Given the description of an element on the screen output the (x, y) to click on. 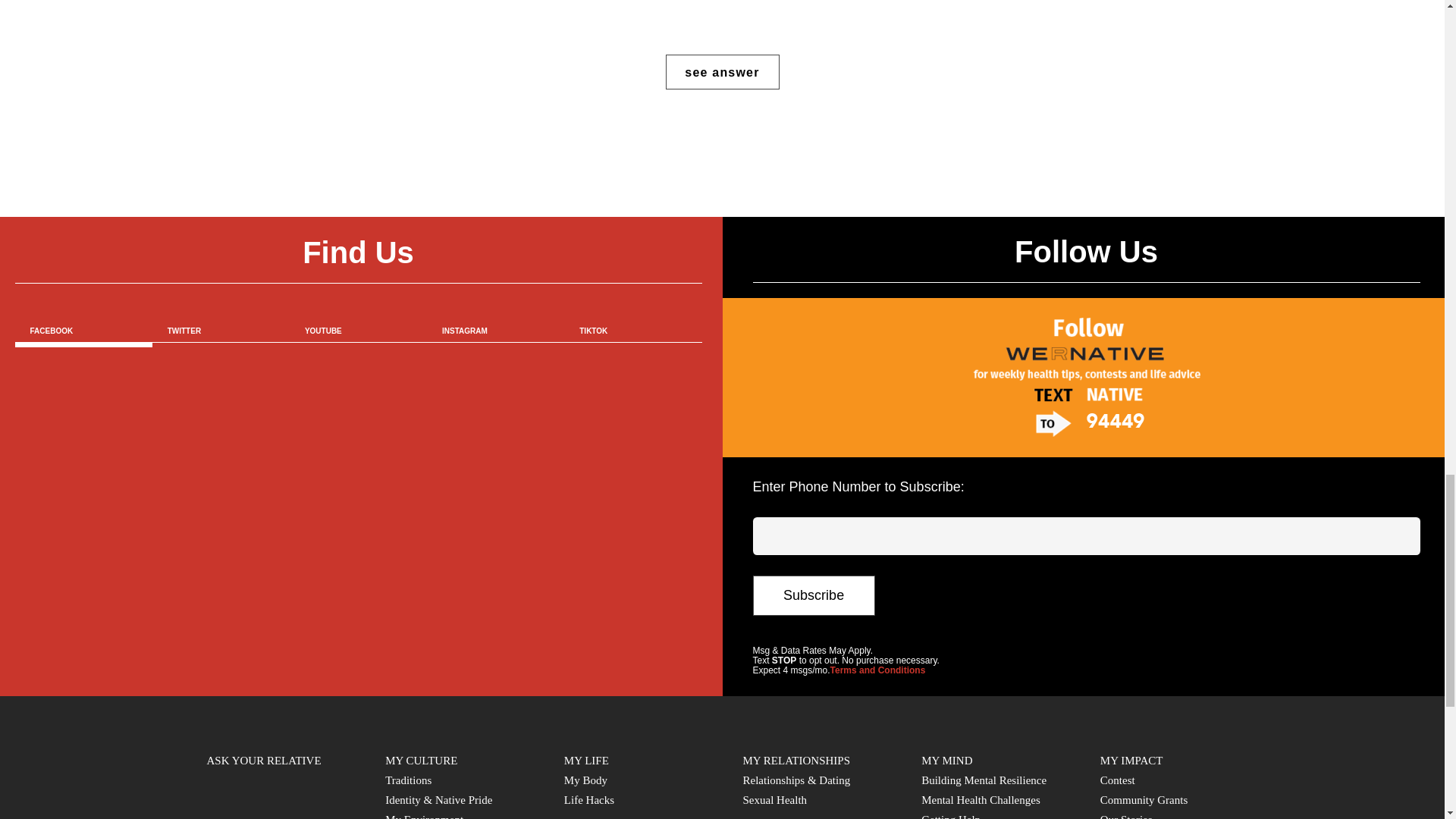
fb:page Facebook Social Plugin (358, 520)
Subscribe (813, 595)
